Given the description of an element on the screen output the (x, y) to click on. 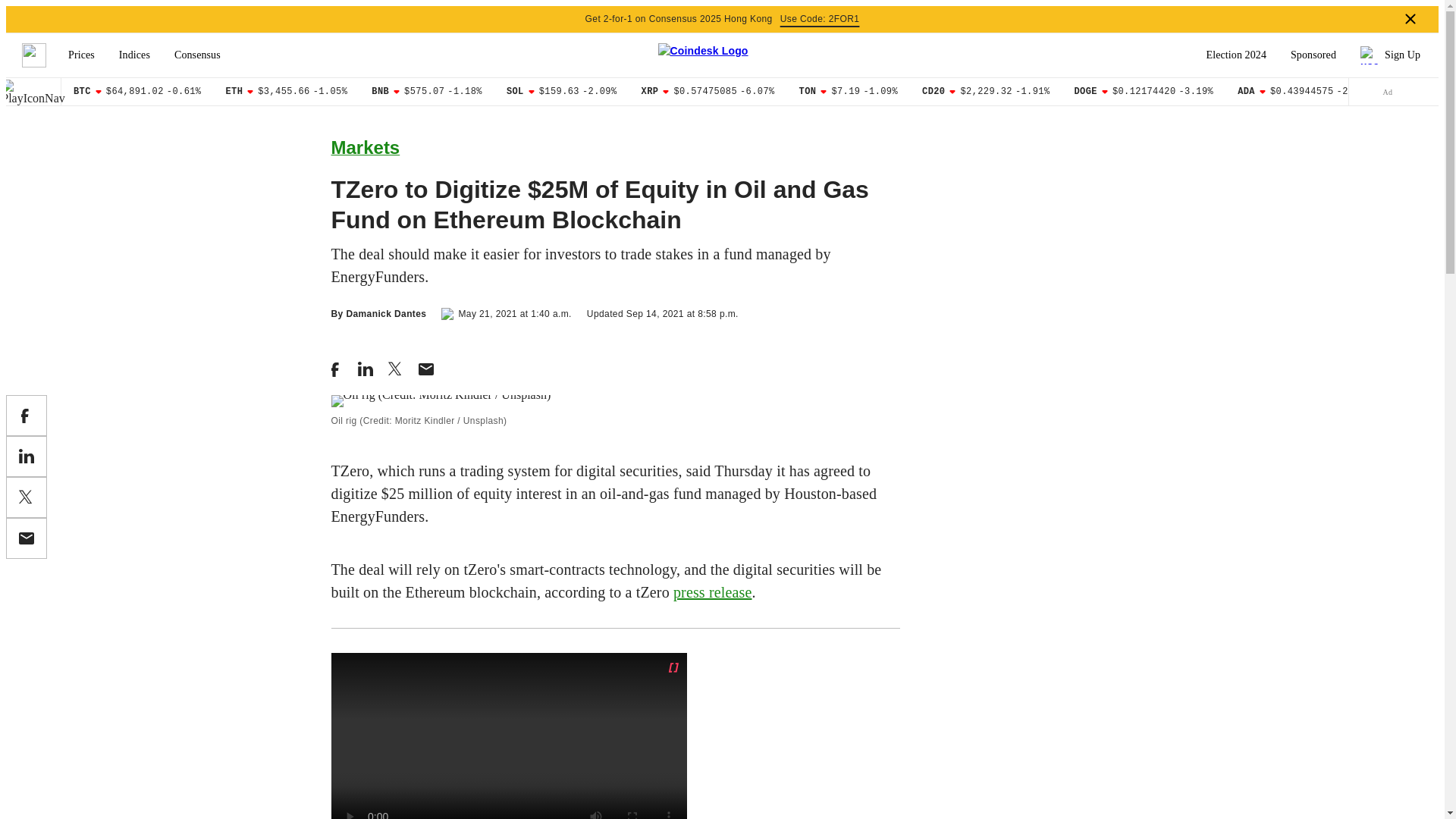
Share via Email (426, 368)
Share on LinkedIn (365, 368)
Share on Facebook (25, 414)
Share via Email (25, 537)
Share on LinkedIn (25, 455)
Share on X (25, 496)
Share on Facebook (336, 368)
Use Code: 2FOR1 (820, 18)
Share on X (395, 368)
